Given the description of an element on the screen output the (x, y) to click on. 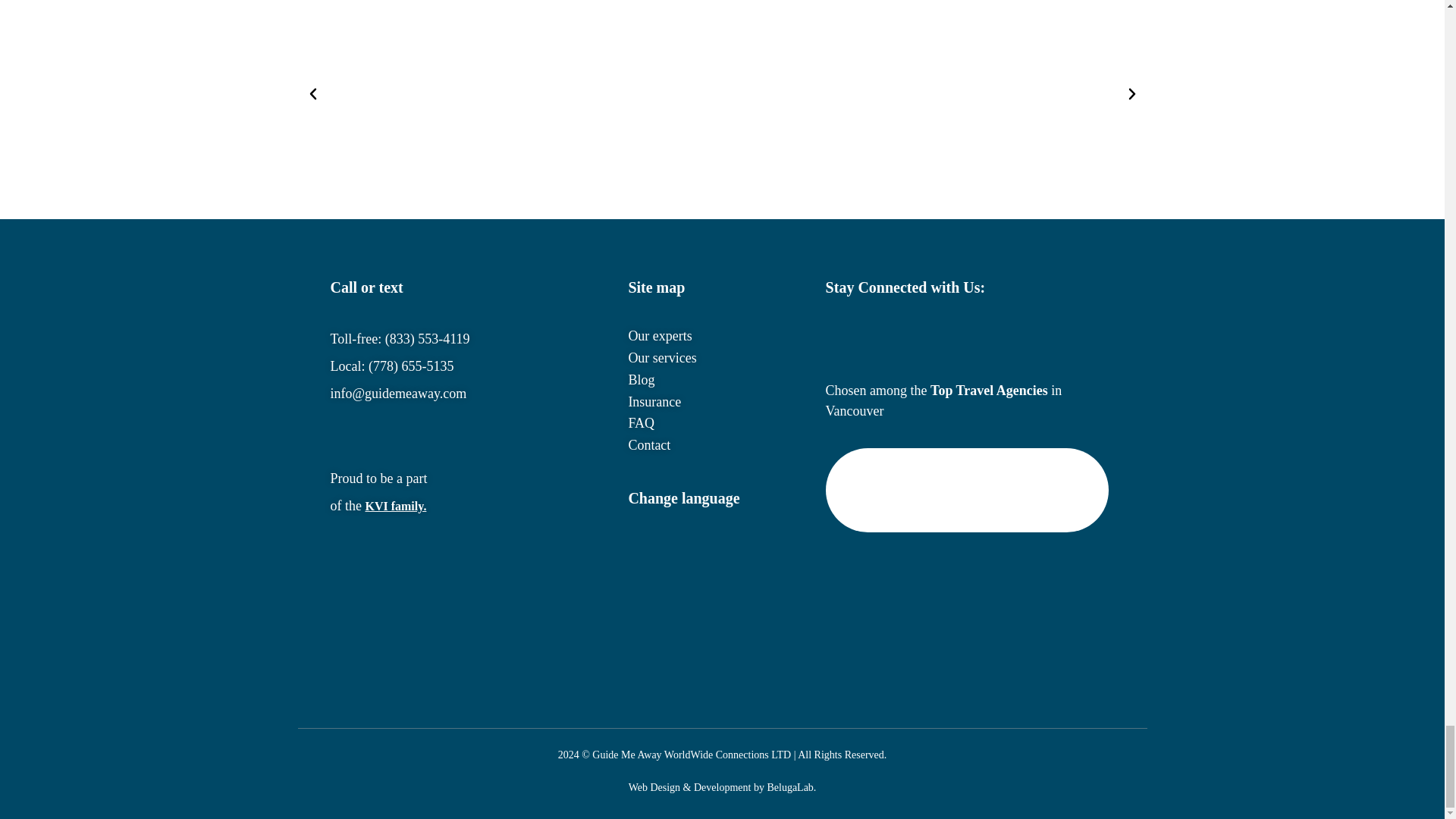
Web Design Company NY (689, 787)
